Given the description of an element on the screen output the (x, y) to click on. 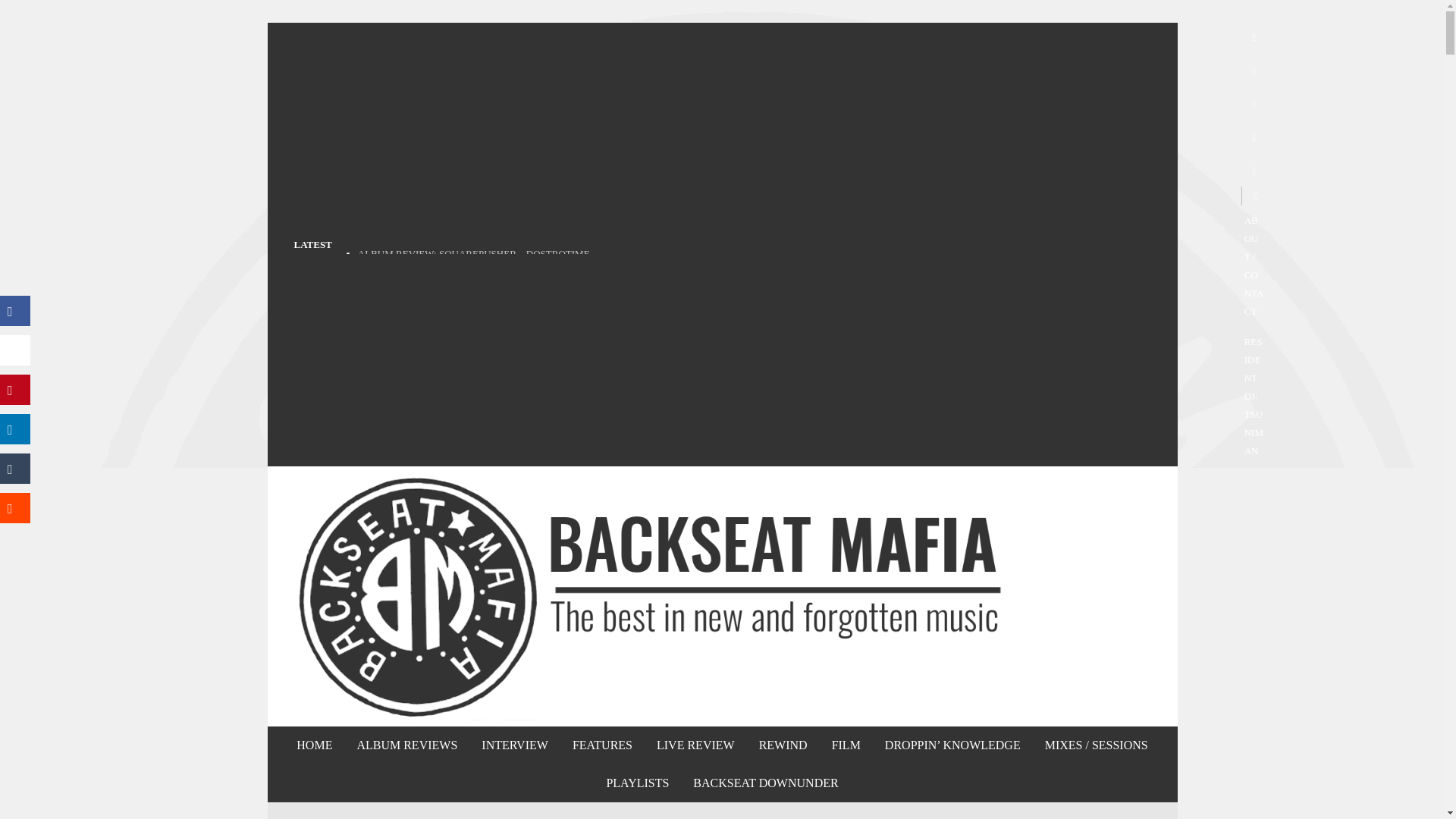
FEATURES (602, 745)
PLAYLISTS (637, 783)
FILM (845, 745)
LIVE REVIEW (695, 745)
REWIND (782, 745)
HOME (313, 745)
INTERVIEW (514, 745)
ALBUM REVIEWS (405, 745)
